Given the description of an element on the screen output the (x, y) to click on. 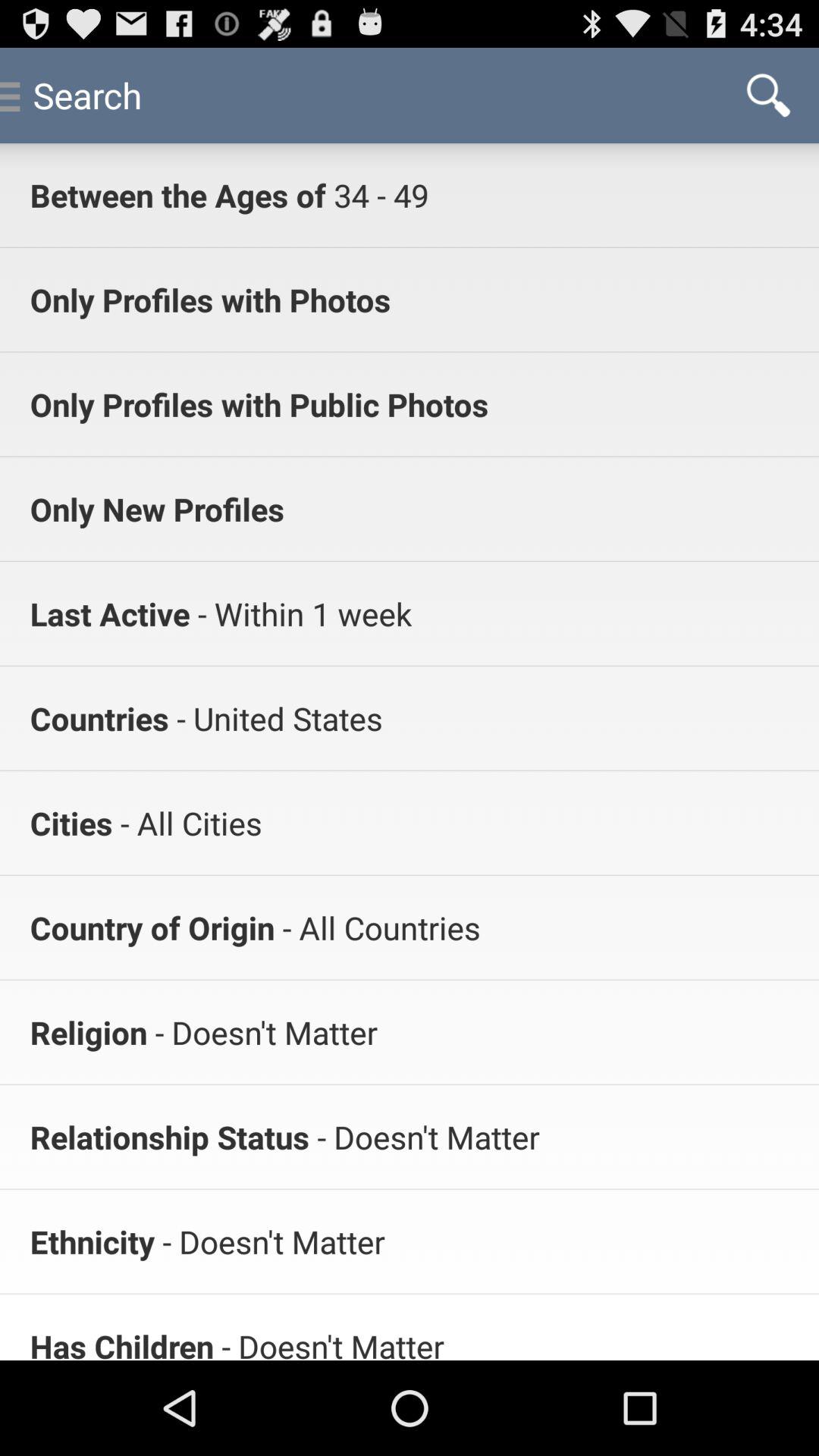
choose icon to the left of  - doesn't matter app (92, 1241)
